Given the description of an element on the screen output the (x, y) to click on. 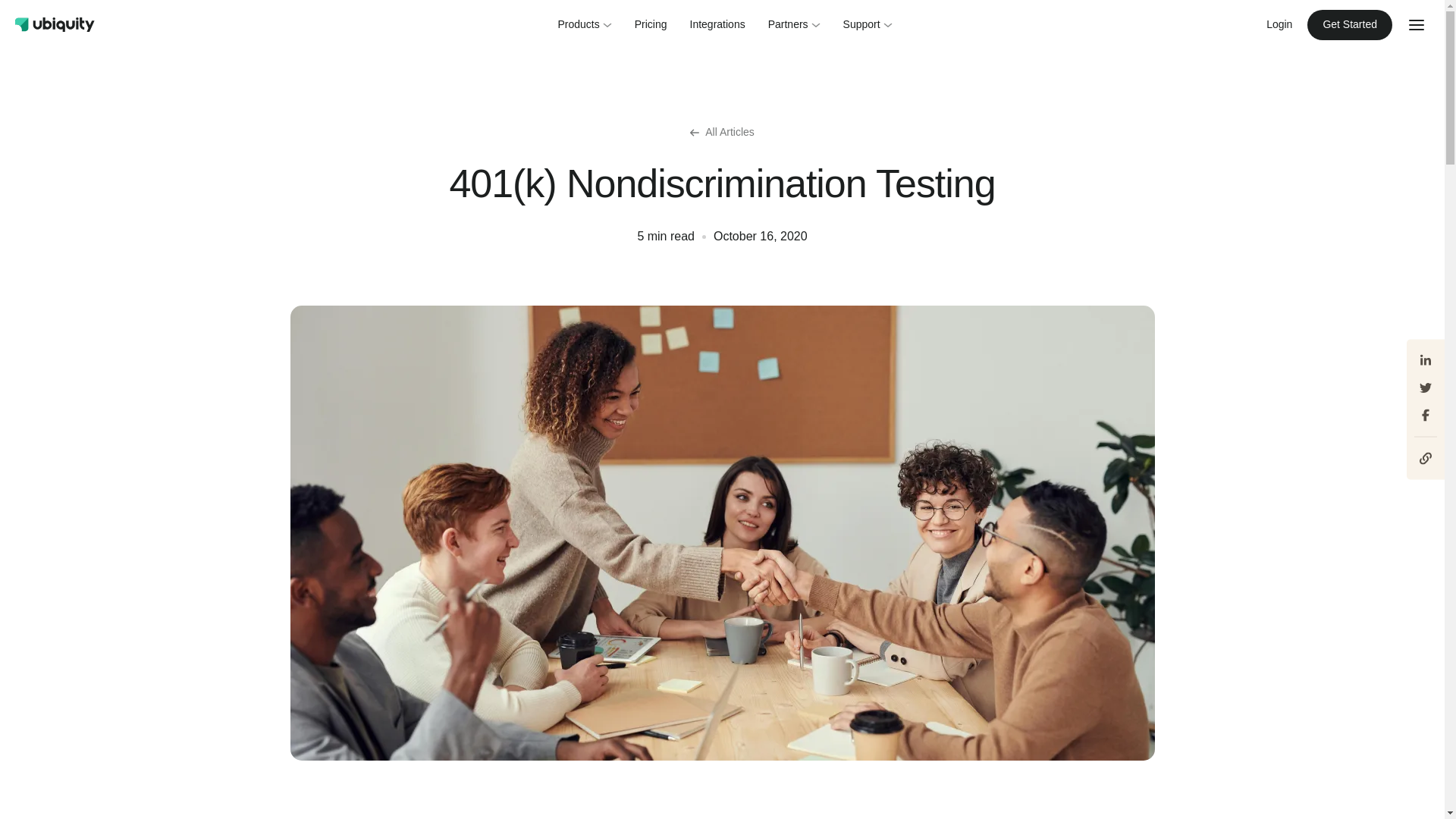
Pricing (650, 24)
Login (1278, 24)
Integrations (717, 24)
Support (867, 24)
Get Started (1349, 24)
Submit (30, 15)
Products (584, 24)
Partners (794, 24)
All Articles (722, 132)
